Given the description of an element on the screen output the (x, y) to click on. 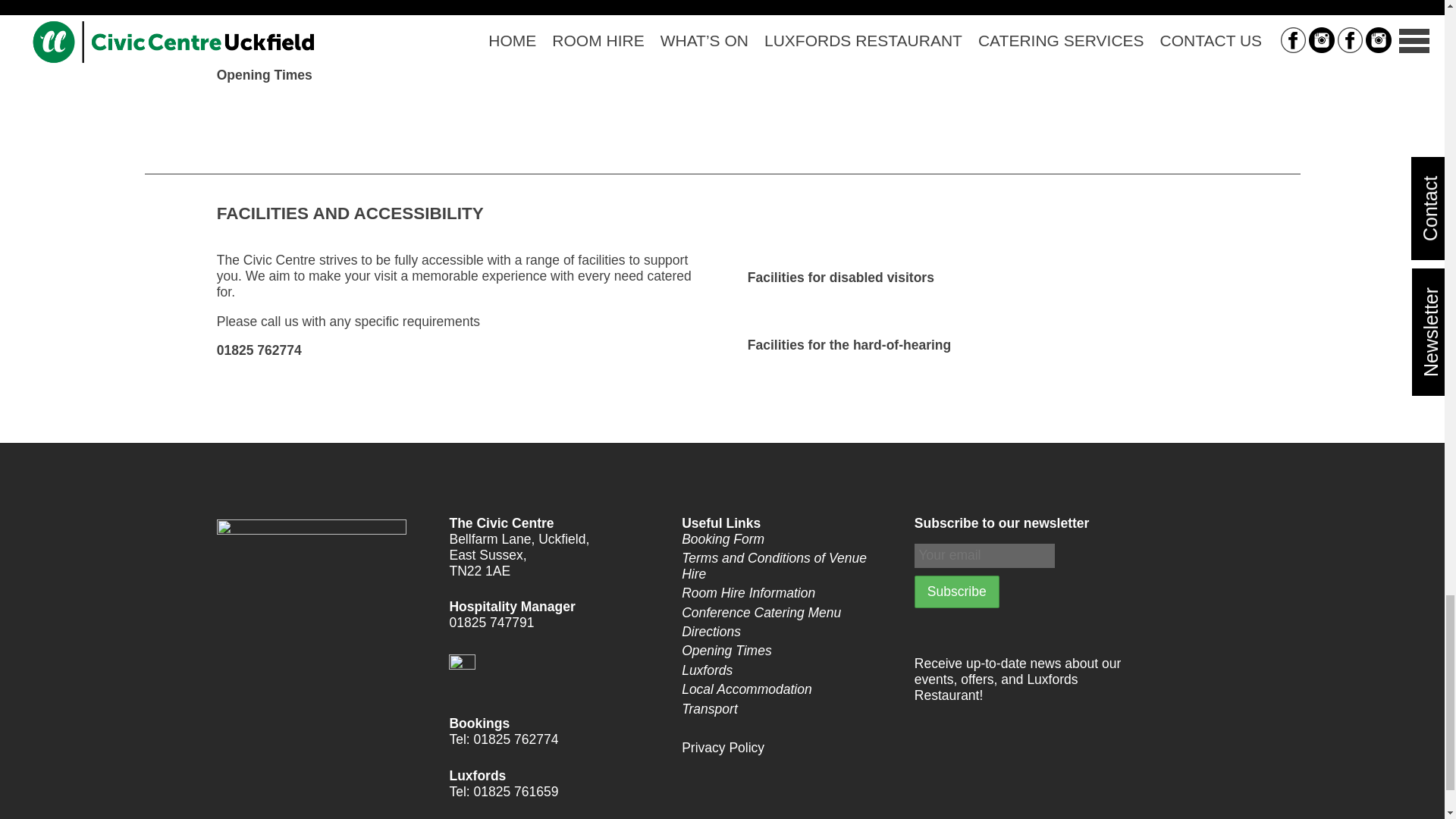
Subscribe (956, 591)
Booking Form (783, 539)
Opening Times (783, 650)
Transport (783, 709)
Directions (783, 631)
Terms and Conditions of Venue Hire (783, 566)
Room Hire Information (783, 593)
Subscribe (956, 591)
Luxfords (783, 670)
Privacy Policy (783, 747)
Conference Catering Menu (783, 612)
Local Accommodation (783, 689)
